Given the description of an element on the screen output the (x, y) to click on. 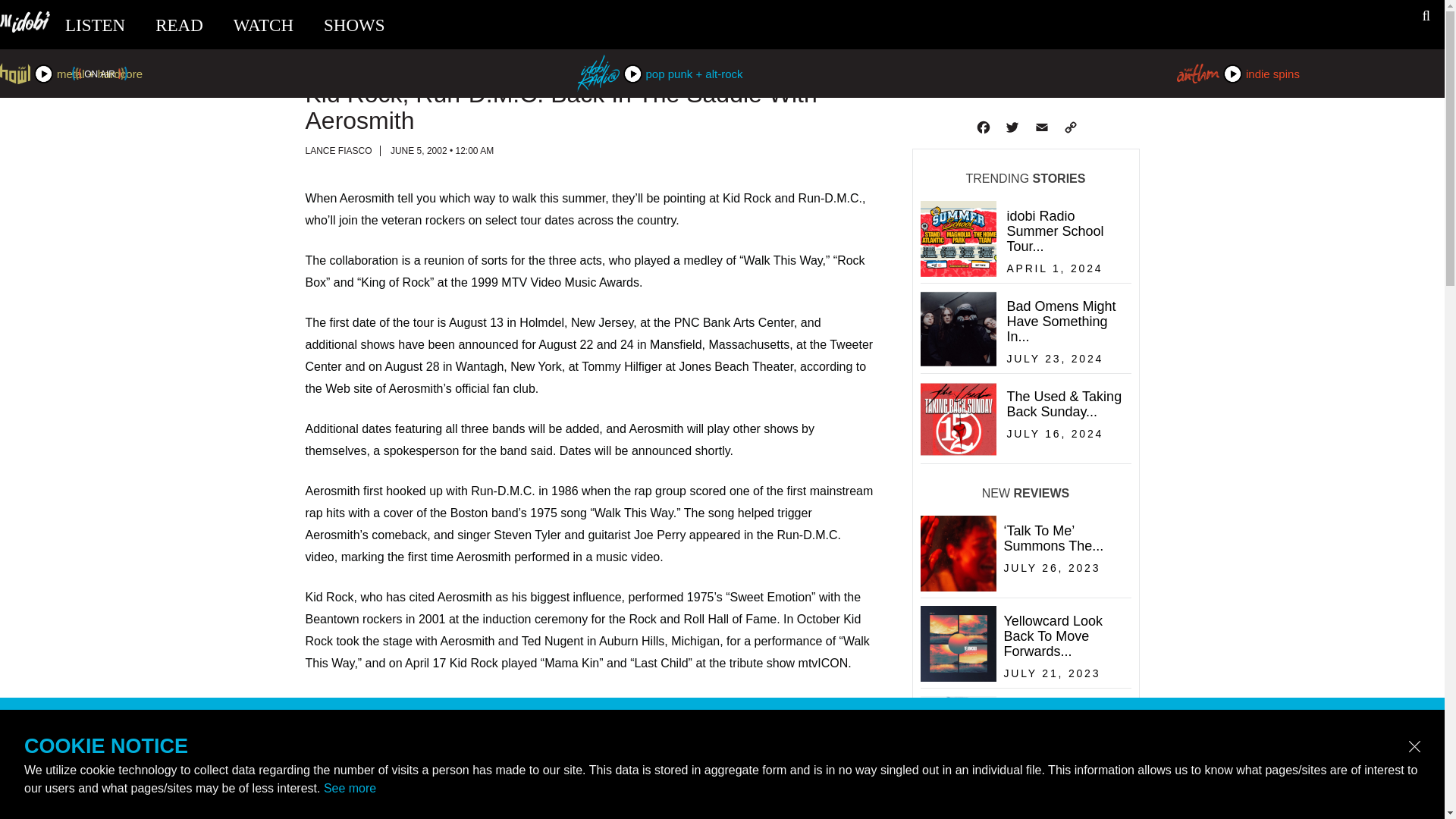
Email (1040, 126)
Twitter (1011, 126)
Facebook (982, 126)
Copy Link (1069, 126)
Lance Fiasco (337, 150)
LISTEN (95, 24)
READ (1023, 363)
LANCE FIASCO (1022, 767)
WATCH (179, 24)
SHOWS (1023, 272)
